Given the description of an element on the screen output the (x, y) to click on. 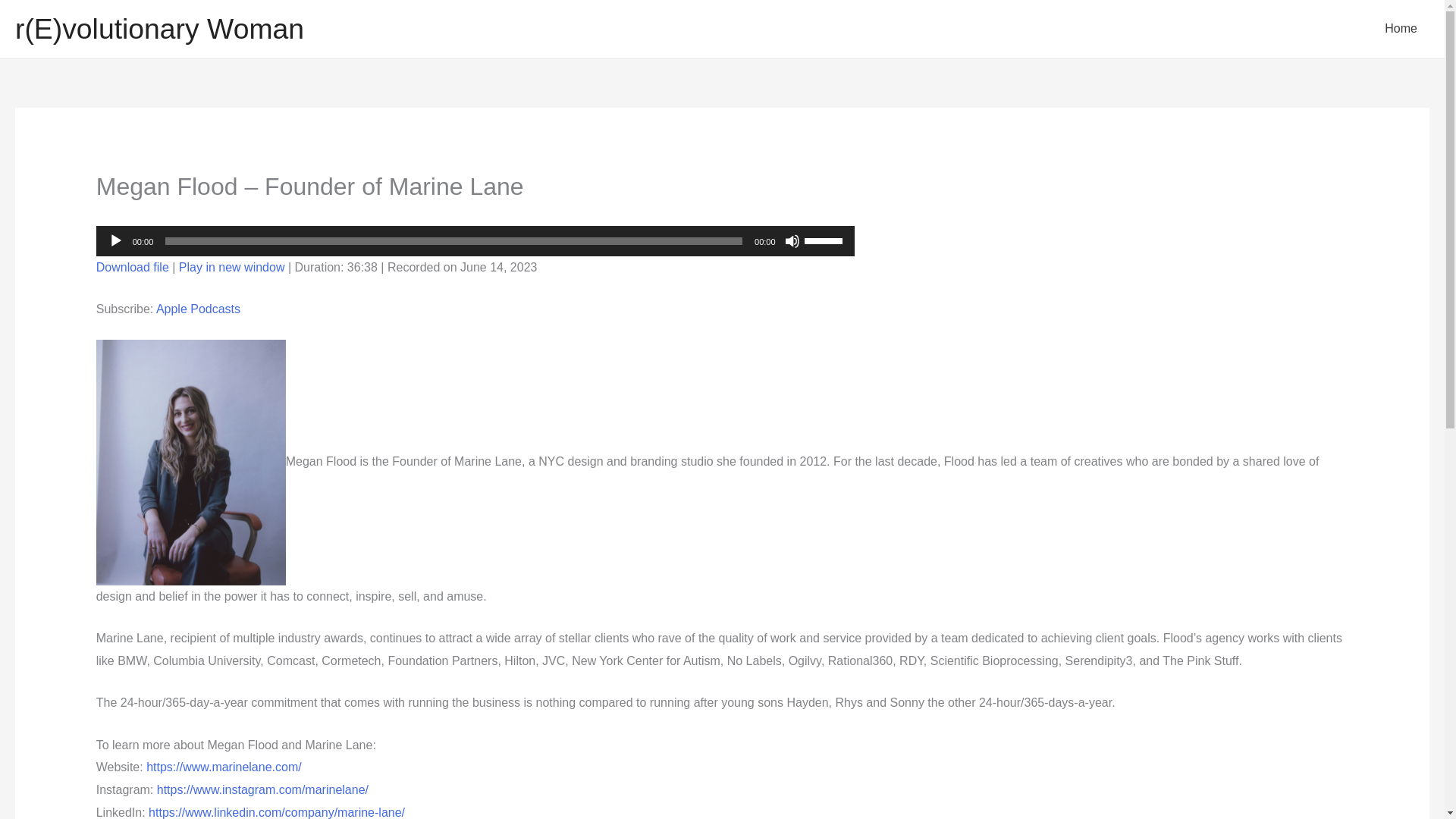
Mute (791, 240)
Apple Podcasts (197, 308)
Play (115, 240)
Apple Podcasts (197, 308)
Play in new window (232, 267)
Home (1401, 29)
Download file (132, 267)
